Given the description of an element on the screen output the (x, y) to click on. 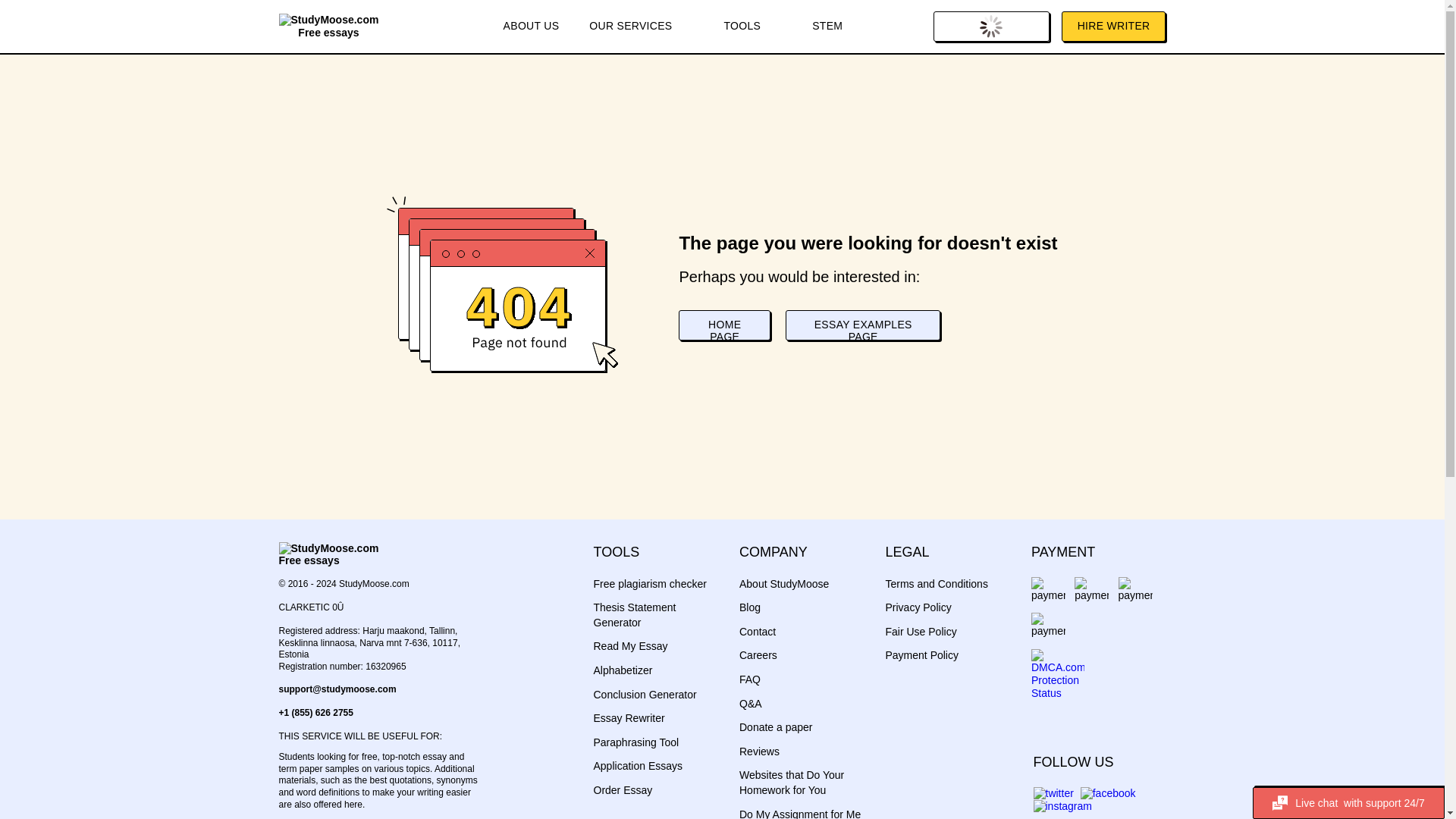
HIRE WRITER (1113, 26)
Paraphrasing Tool (635, 742)
Free plagiarism checker (649, 583)
STEM (826, 26)
Order Essay (622, 789)
Free essays (328, 26)
About StudyMoose (783, 583)
Blog (749, 607)
FAQ (749, 679)
Read My Essay (629, 645)
